Given the description of an element on the screen output the (x, y) to click on. 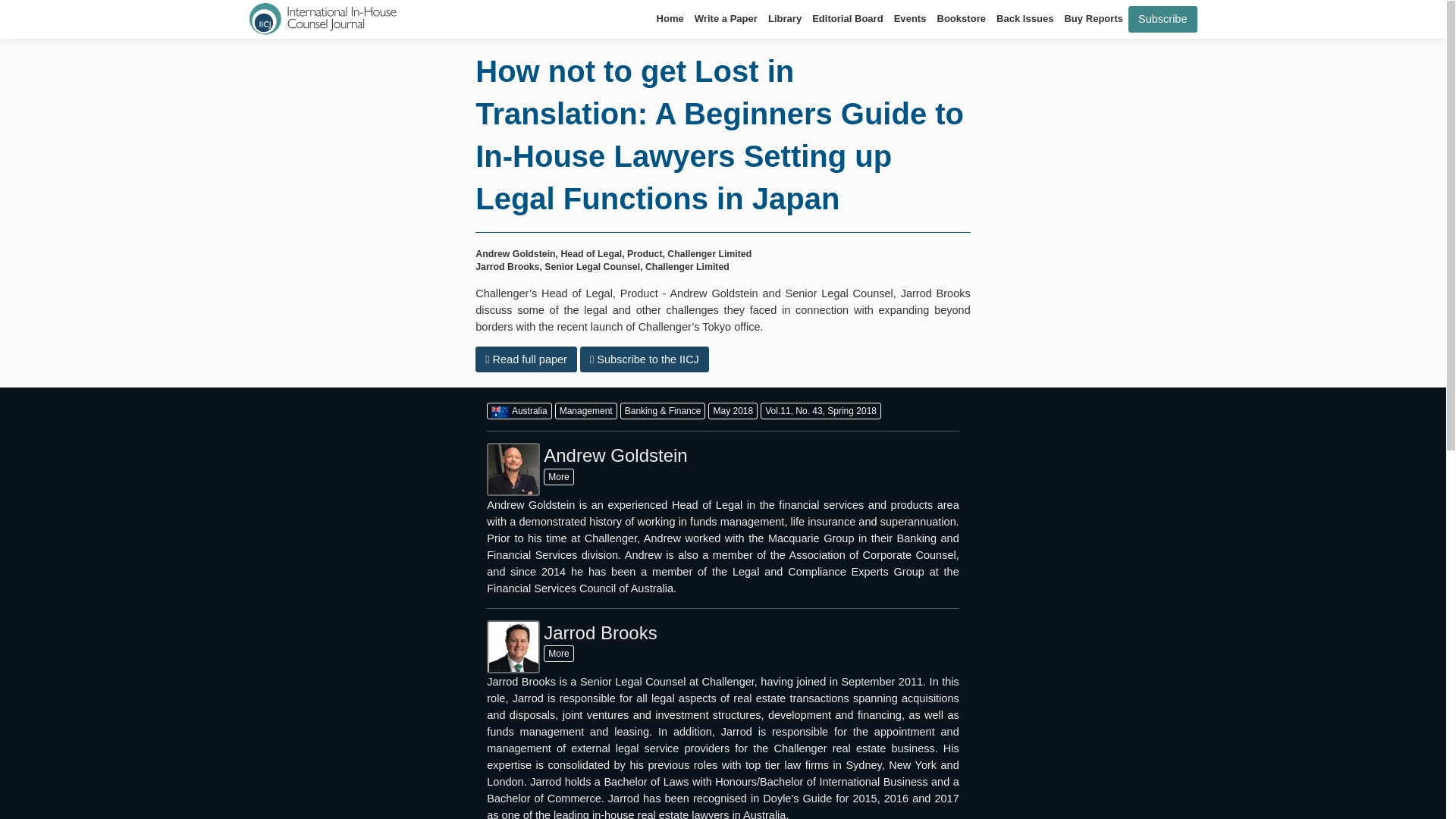
View all papers for Management (585, 410)
Buy Reports (1093, 18)
Australia (518, 410)
Back Issues (1024, 18)
Write a Paper (725, 18)
Vol.11, No. 43, Spring 2018 (820, 410)
Library (784, 18)
View all papers by Jarrod Brooks (558, 653)
More (558, 653)
View all papers by Andrew Goldstein (558, 476)
View all papers from May 2018 (732, 410)
Home (669, 18)
Editorial Board (847, 18)
Events (909, 18)
More (558, 476)
